Given the description of an element on the screen output the (x, y) to click on. 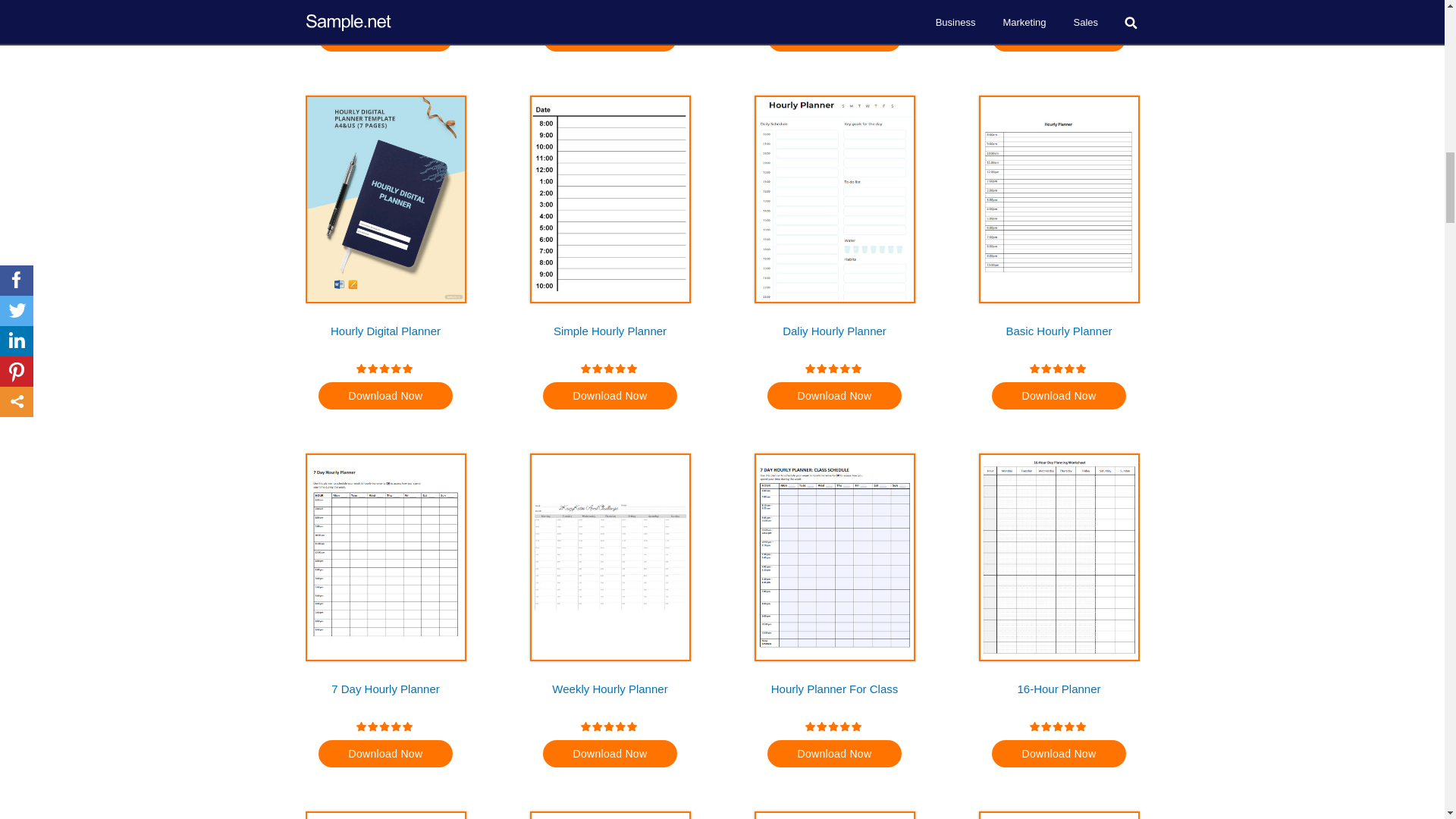
Download Now (385, 37)
Download Now (834, 395)
Download Now (610, 395)
Download Now (610, 37)
Hourly Digital Planner (384, 338)
Basic Hourly Planner (1058, 338)
Simple Hourly Planner (609, 338)
Download Now (1058, 395)
Download Now (1058, 37)
Download Now (385, 395)
